Given the description of an element on the screen output the (x, y) to click on. 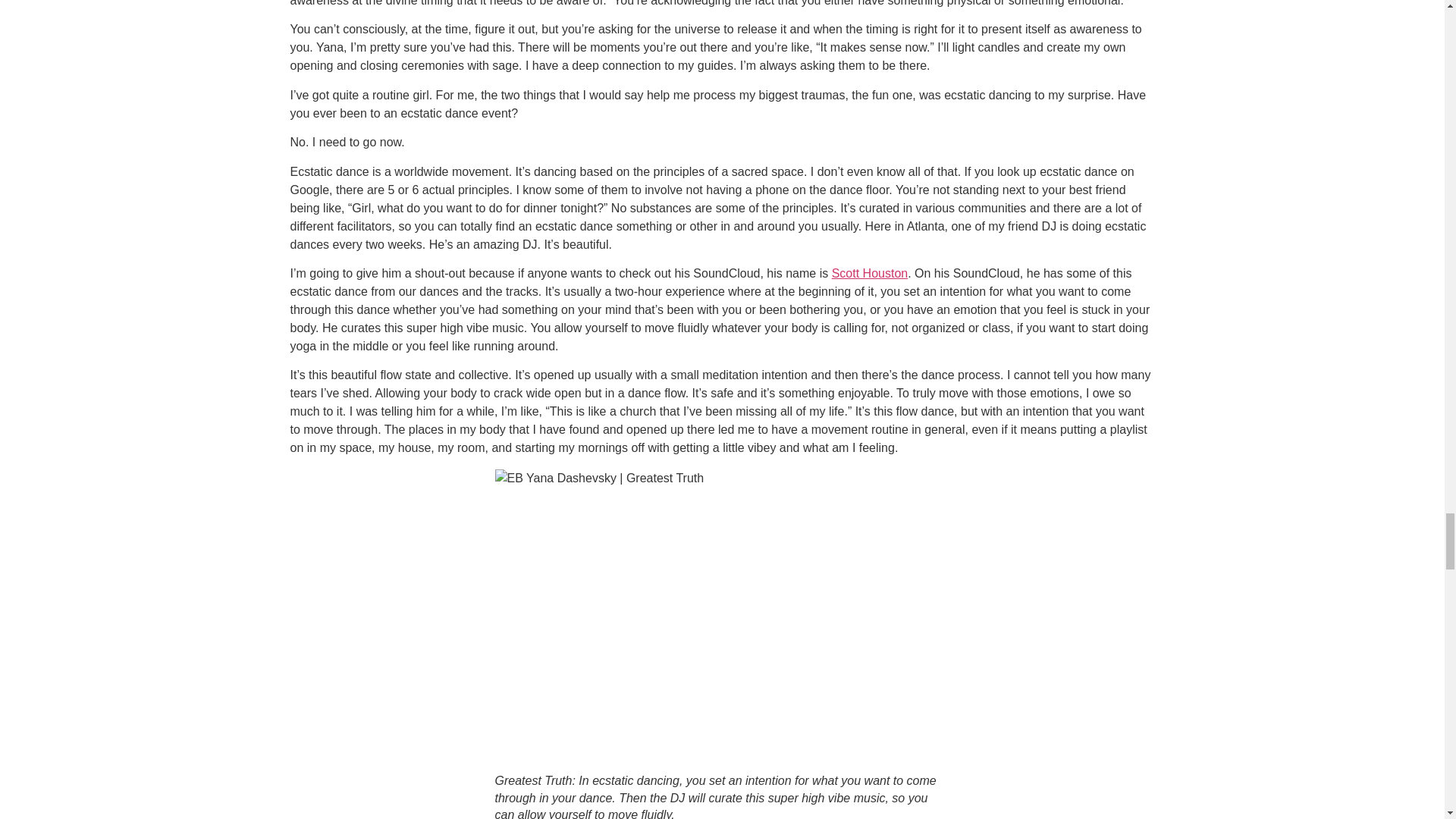
Scott Houston (869, 273)
